Given the description of an element on the screen output the (x, y) to click on. 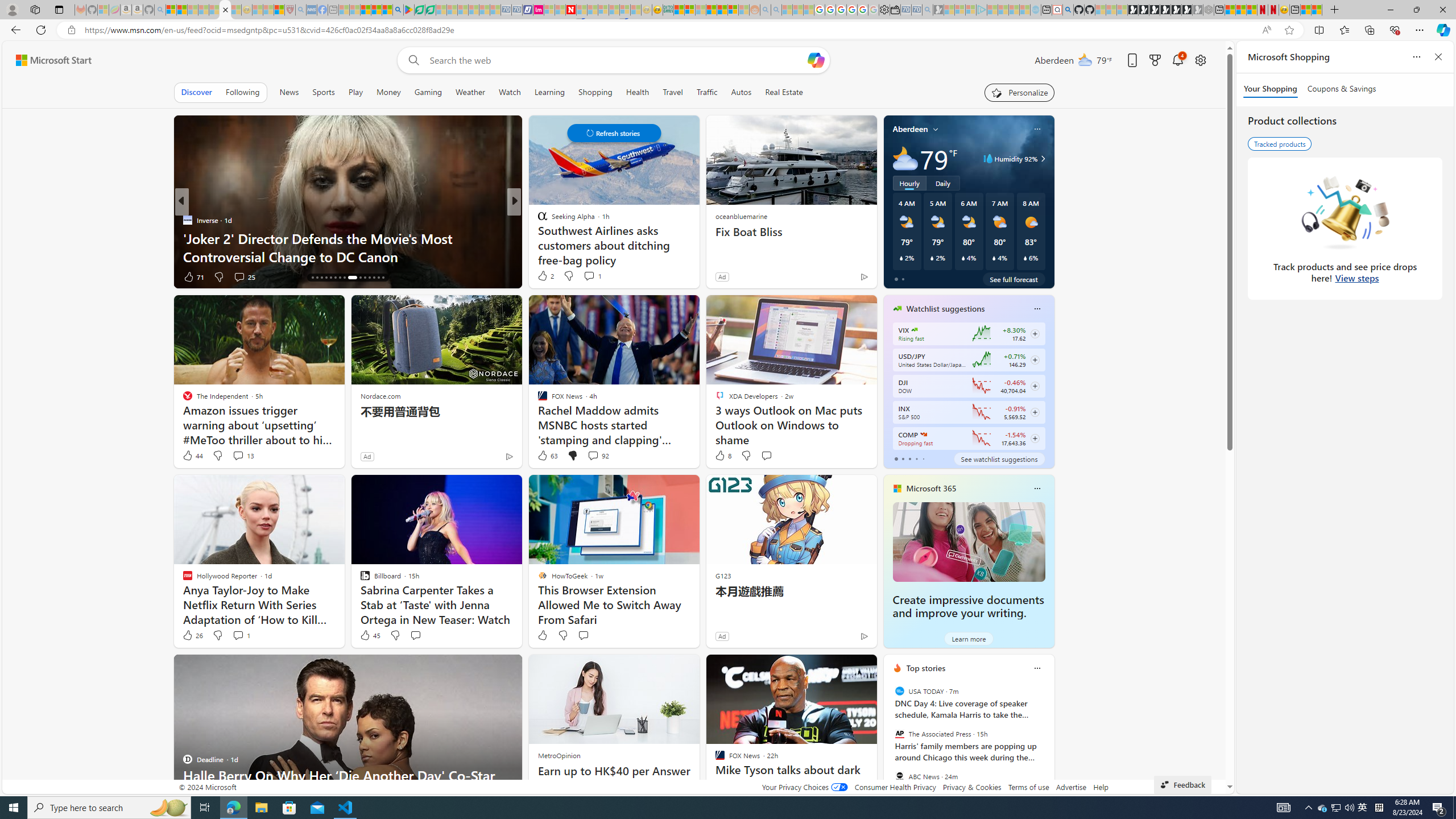
Terms of use (1028, 786)
Ad (721, 636)
Microsoft Word - consumer-privacy address update 2.2021 (430, 9)
Open settings (1199, 60)
NCL Adult Asthma Inhaler Choice Guideline - Sleeping (311, 9)
github - Search (1068, 9)
AutomationID: tab-17 (317, 277)
Learning (549, 92)
Travel (672, 92)
Skip to footer (46, 59)
Terms of Use Agreement (419, 9)
Microsoft Start Gaming - Sleeping (938, 9)
Feedback (1182, 784)
